Given the description of an element on the screen output the (x, y) to click on. 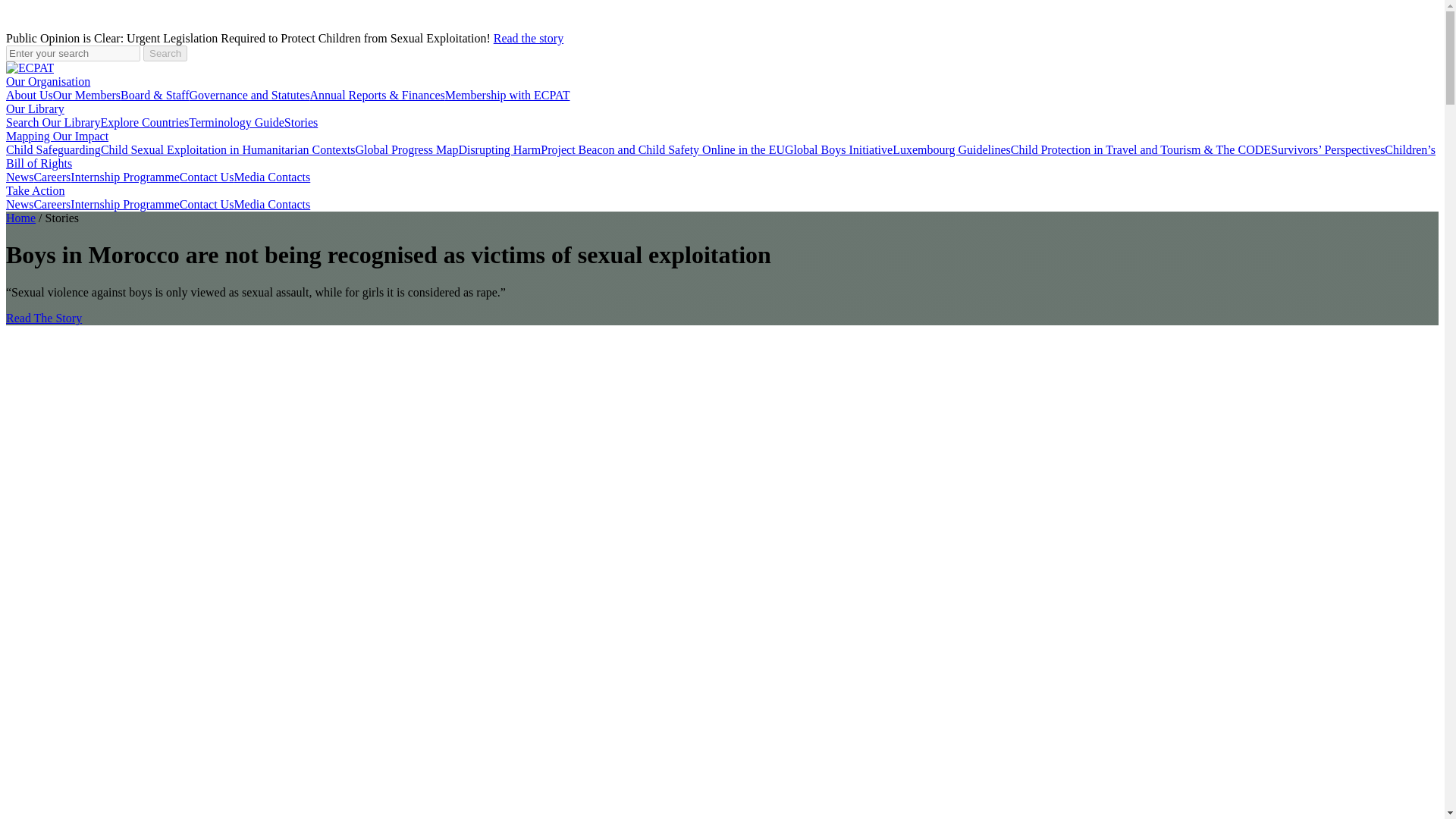
Luxembourg Guidelines (951, 149)
Media Contacts (271, 204)
Search Our Library (52, 122)
Membership with ECPAT (507, 94)
Project Beacon and Child Safety Online in the EU (662, 149)
Stories (300, 122)
Child Sexual Exploitation in Humanitarian Contexts (227, 149)
Our Members (86, 94)
Disrupting Harm (499, 149)
News (19, 204)
Search (164, 53)
Home (19, 217)
Governance and Statutes (248, 94)
News (19, 176)
Contact Us (206, 204)
